Given the description of an element on the screen output the (x, y) to click on. 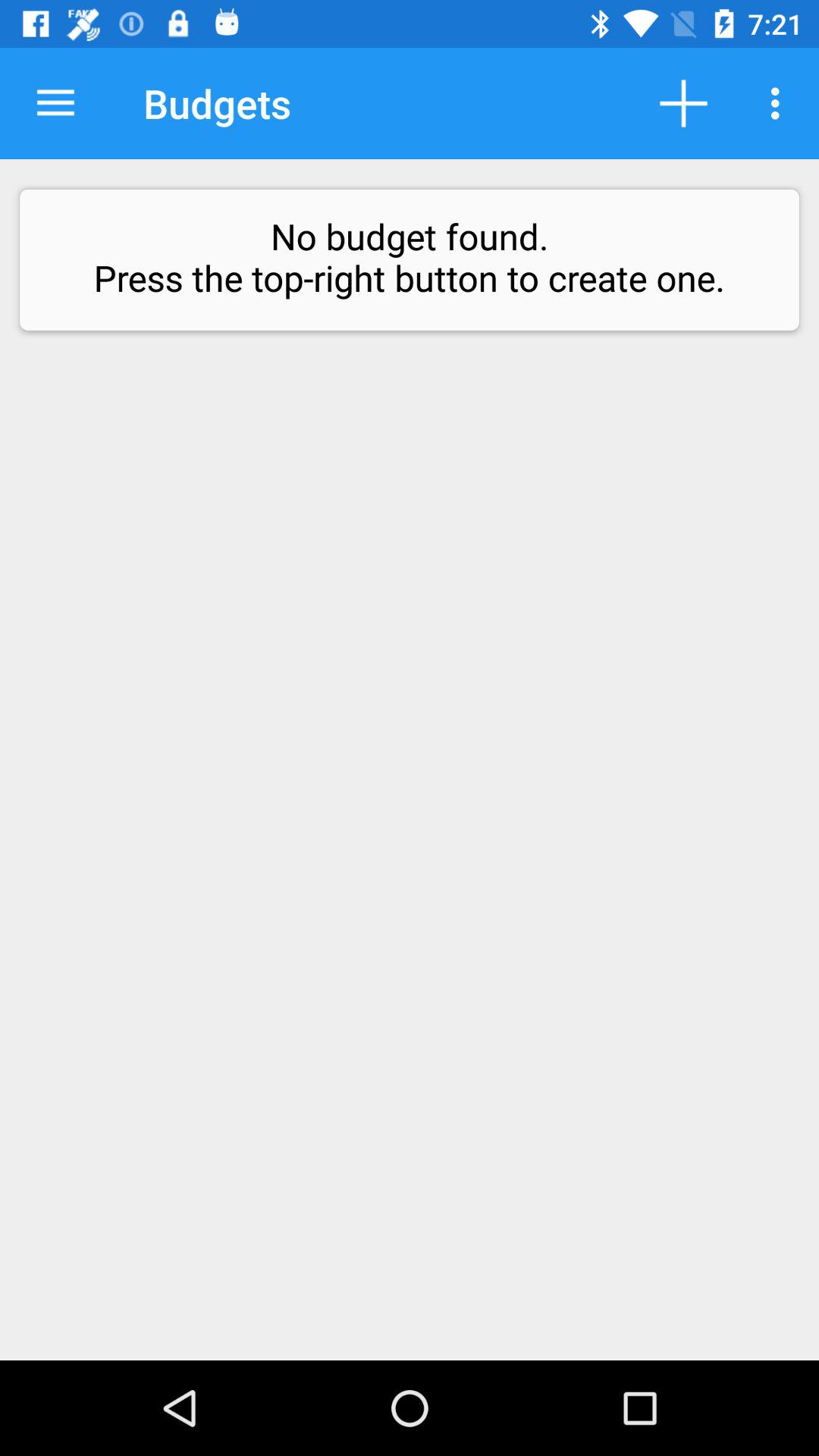
click icon next to budgets (55, 103)
